Given the description of an element on the screen output the (x, y) to click on. 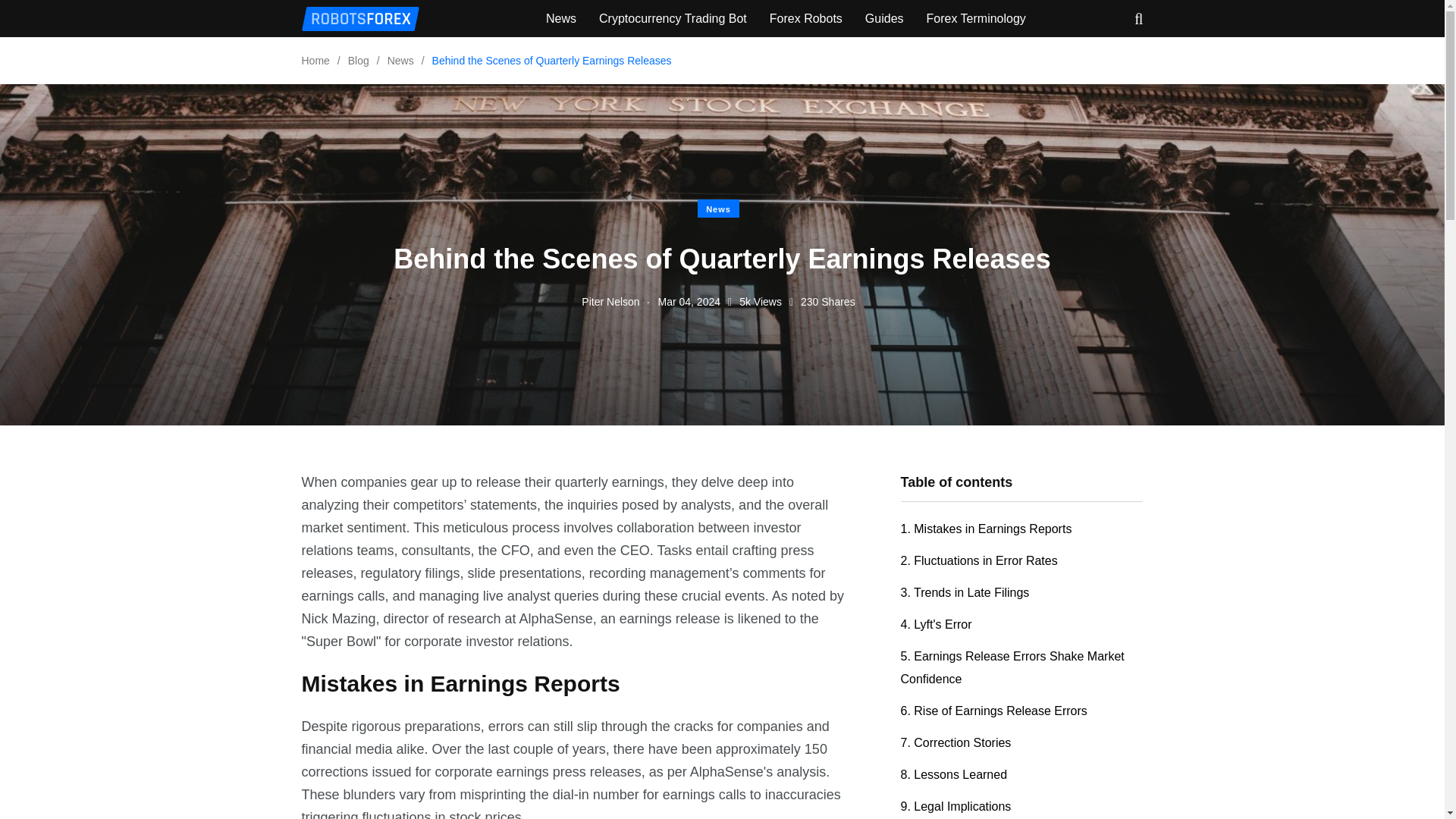
5. Earnings Release Errors Shake Market Confidence (1012, 668)
Blog (358, 60)
Cryptocurrency Trading Bot (672, 18)
8. Lessons Learned (954, 775)
6. Rise of Earnings Release Errors (994, 711)
News (718, 208)
9. Legal Implications (956, 807)
2. Fluctuations in Error Rates (979, 561)
1. Mistakes in Earnings Reports (986, 529)
3. Trends in Late Filings (965, 592)
News (561, 18)
News (400, 60)
Guides (884, 18)
Forex Terminology (976, 18)
4. Lyft's Error (936, 624)
